Given the description of an element on the screen output the (x, y) to click on. 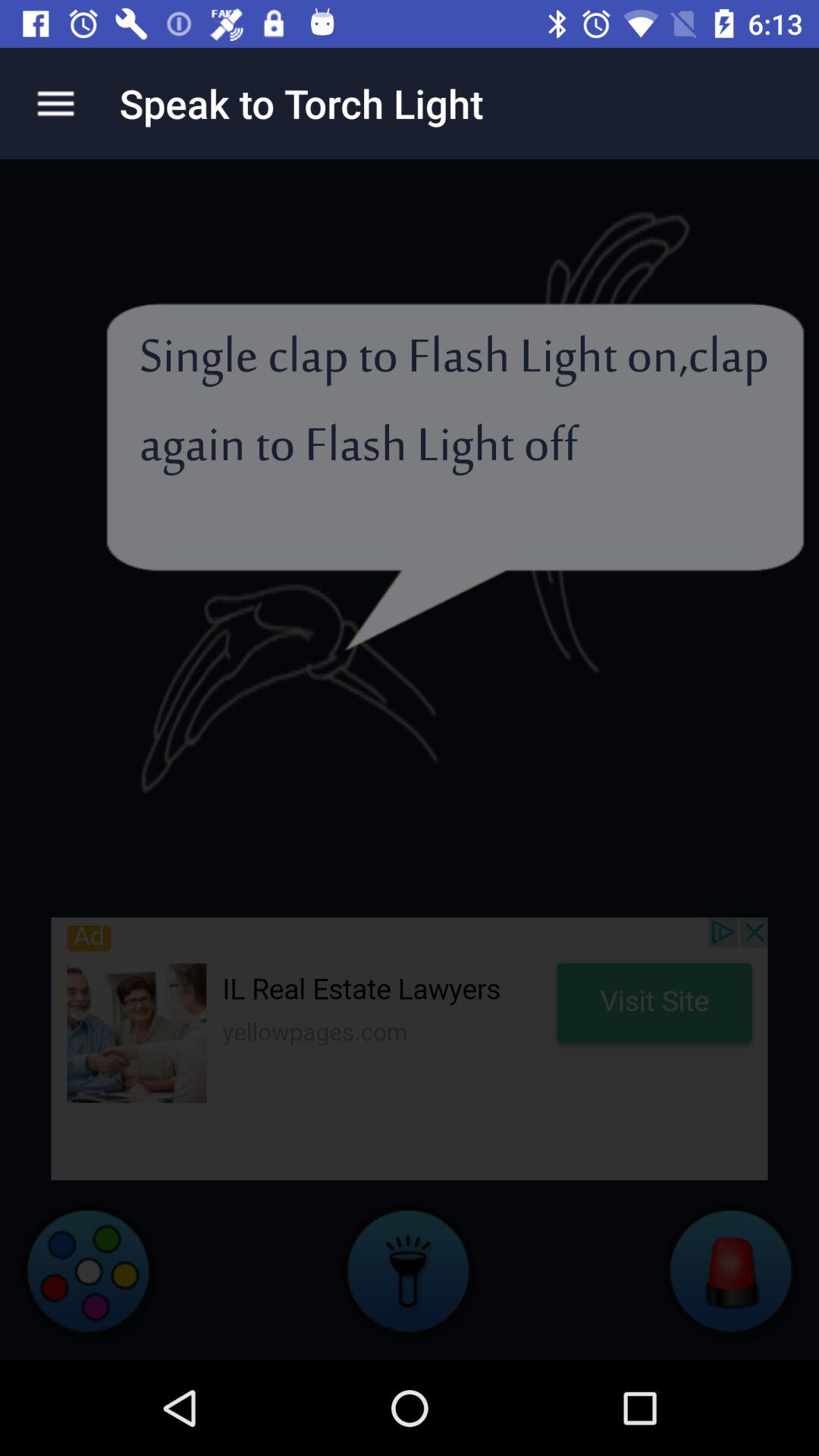
go to light (409, 1270)
